Given the description of an element on the screen output the (x, y) to click on. 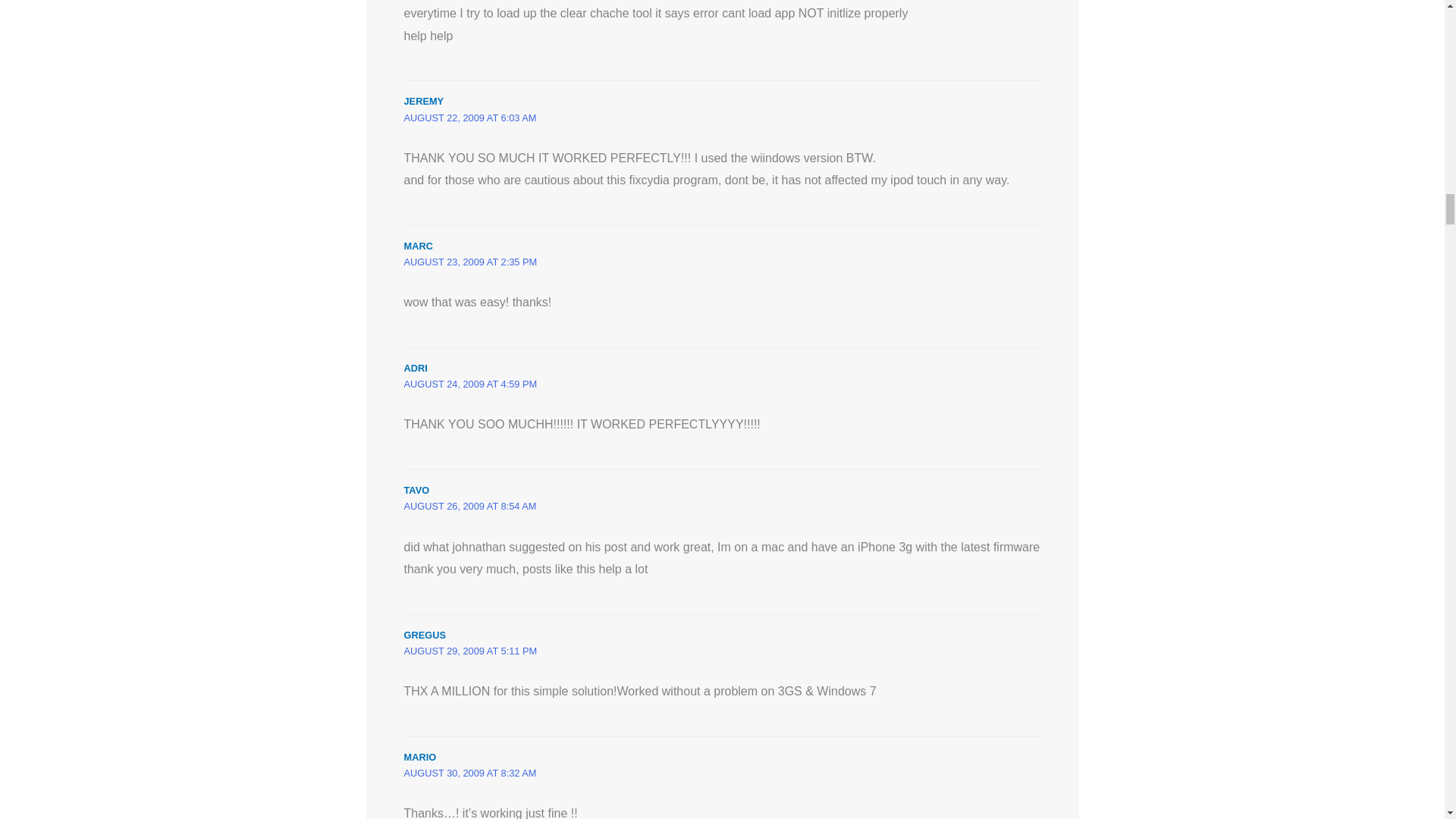
AUGUST 22, 2009 AT 6:03 AM (469, 117)
AUGUST 24, 2009 AT 4:59 PM (470, 383)
AUGUST 23, 2009 AT 2:35 PM (470, 261)
AUGUST 29, 2009 AT 5:11 PM (470, 650)
AUGUST 30, 2009 AT 8:32 AM (469, 772)
AUGUST 26, 2009 AT 8:54 AM (469, 505)
